Given the description of an element on the screen output the (x, y) to click on. 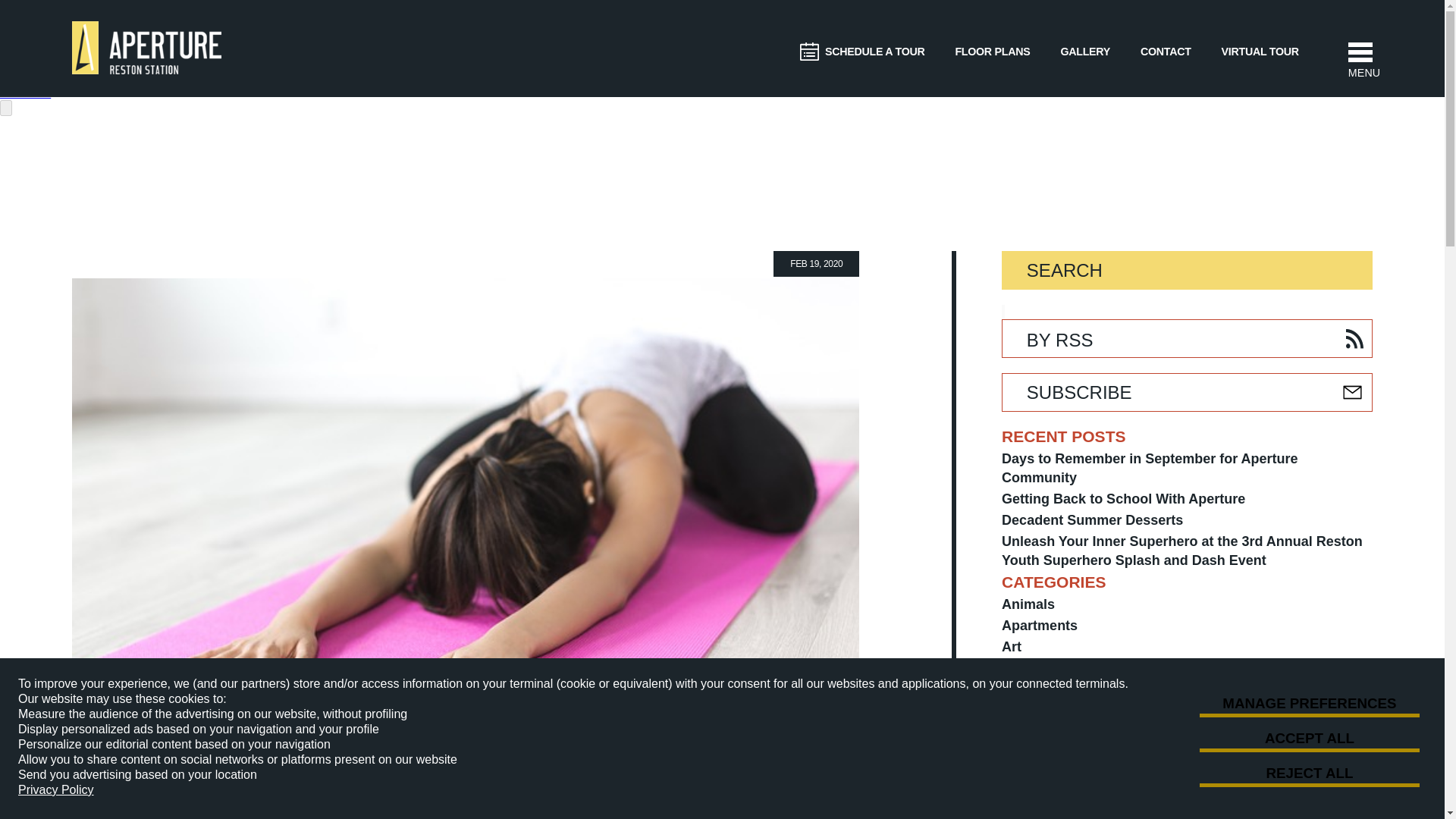
MENU (1360, 49)
GALLERY (1084, 51)
VIRTUAL TOUR (1259, 51)
FLOOR PLANS (992, 51)
SCHEDULE A TOUR (861, 52)
Privacy Policy (55, 789)
SUBSCRIBE (1187, 392)
ACCEPT ALL (1308, 738)
MANAGE PREFERENCES (1308, 704)
REJECT ALL (1308, 773)
